Given the description of an element on the screen output the (x, y) to click on. 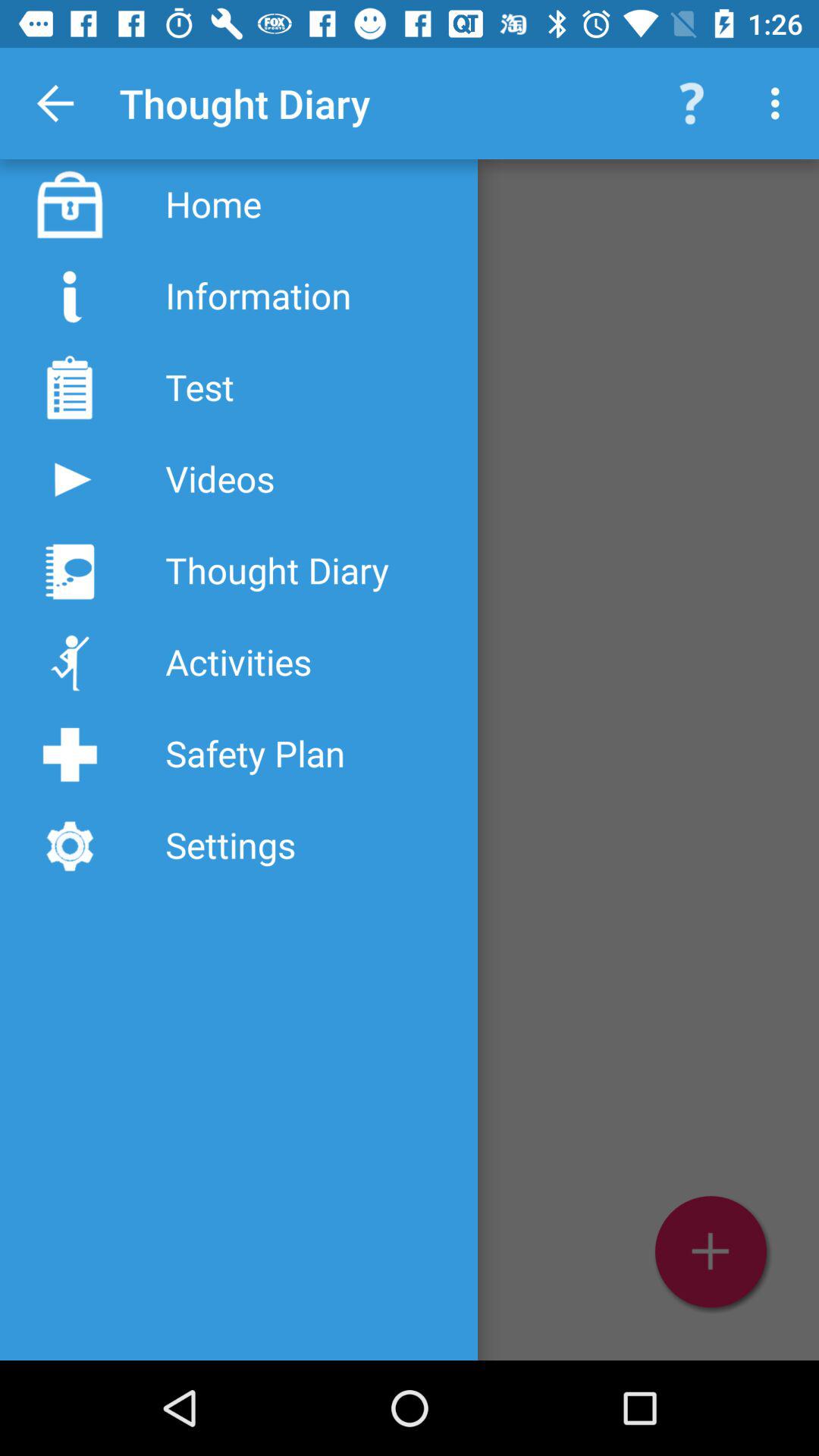
click on the icon next to question mark icon on the top left corner (779, 103)
